Given the description of an element on the screen output the (x, y) to click on. 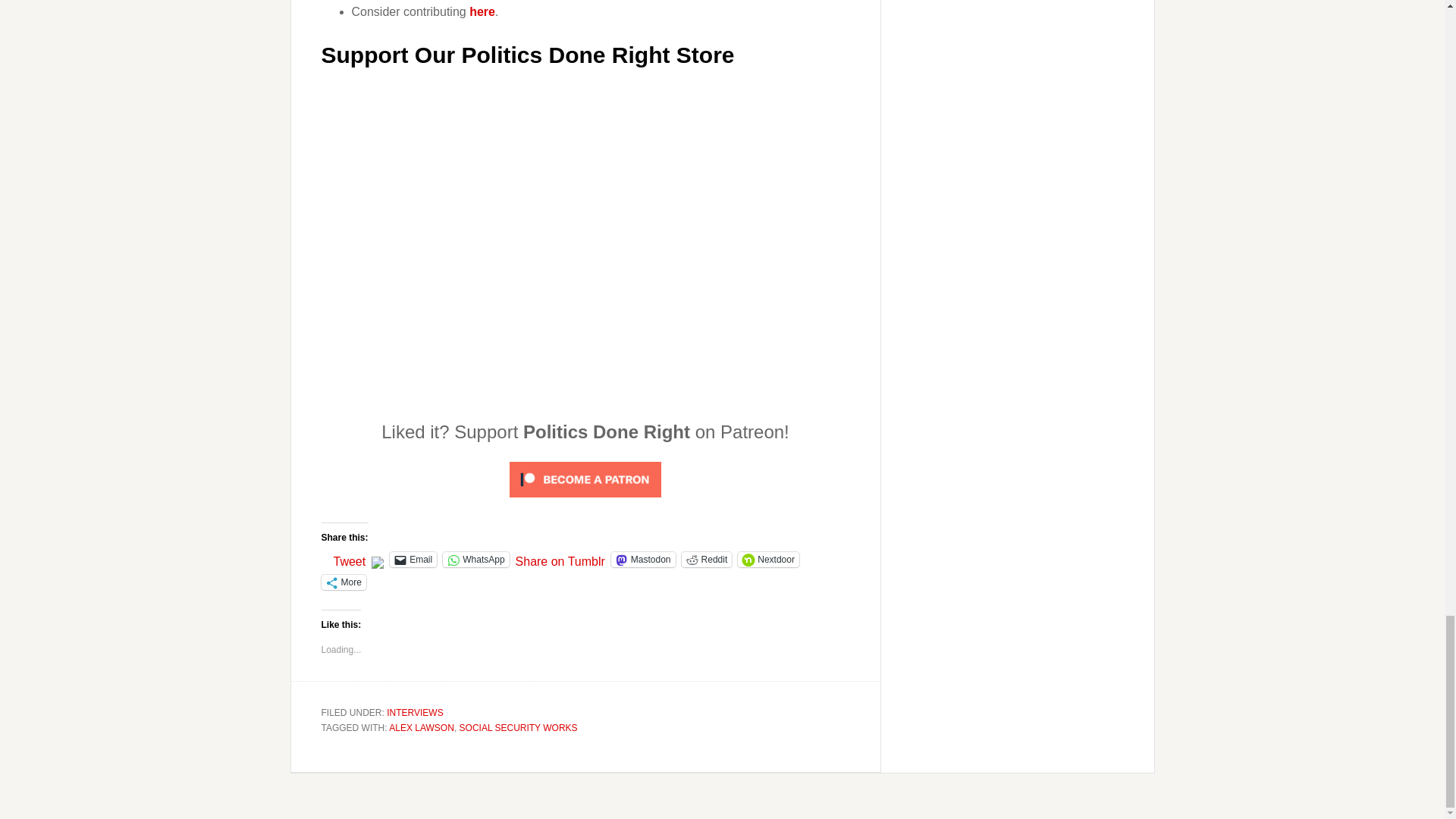
Share on Tumblr (560, 558)
Click to share on Mastodon (643, 559)
Click to share on WhatsApp (475, 559)
Click to share on Reddit (706, 559)
Click to email a link to a friend (413, 559)
Click to share on Nextdoor (768, 559)
